Given the description of an element on the screen output the (x, y) to click on. 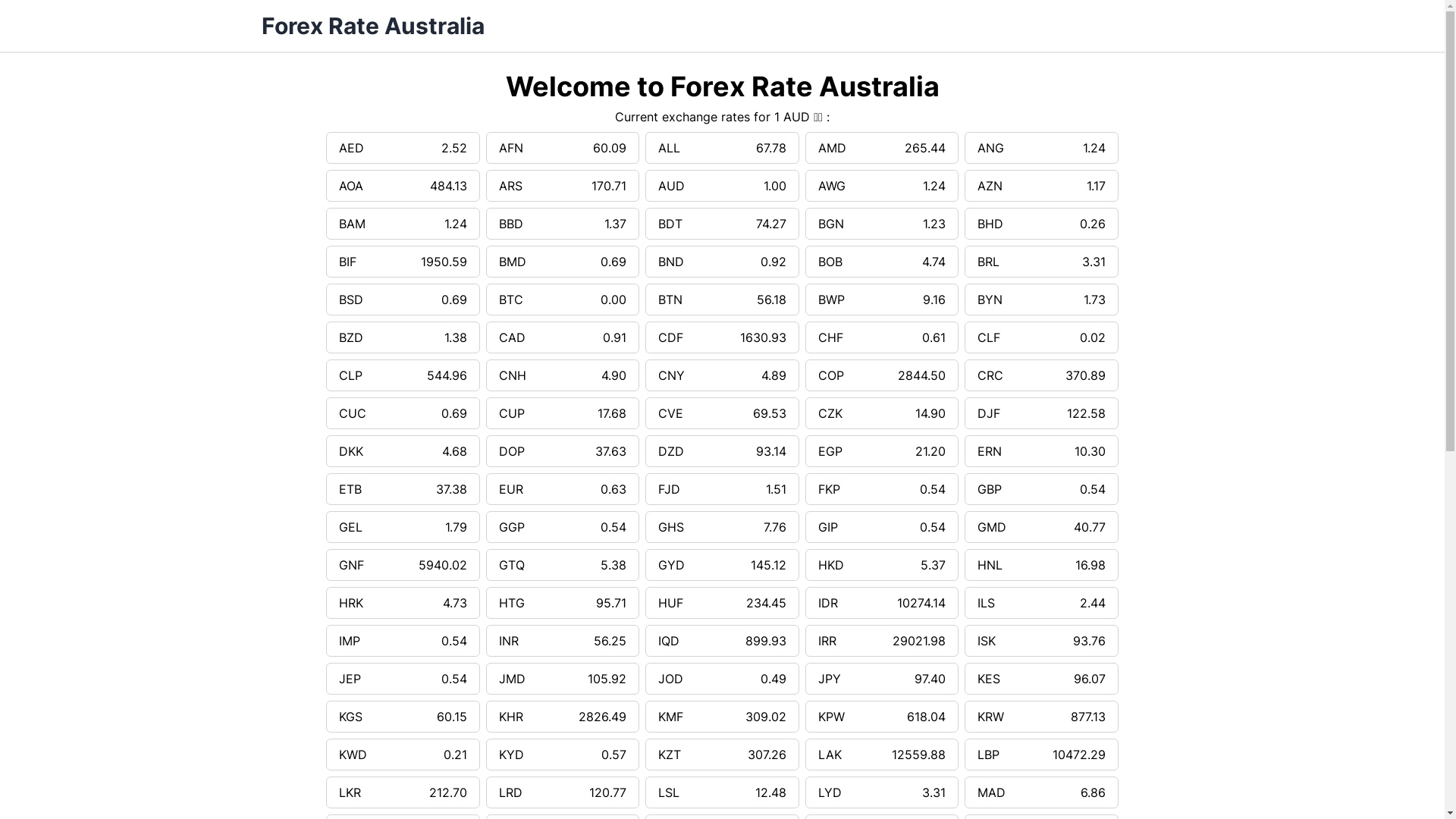
Forex Rate Australia Element type: text (371, 25)
